Given the description of an element on the screen output the (x, y) to click on. 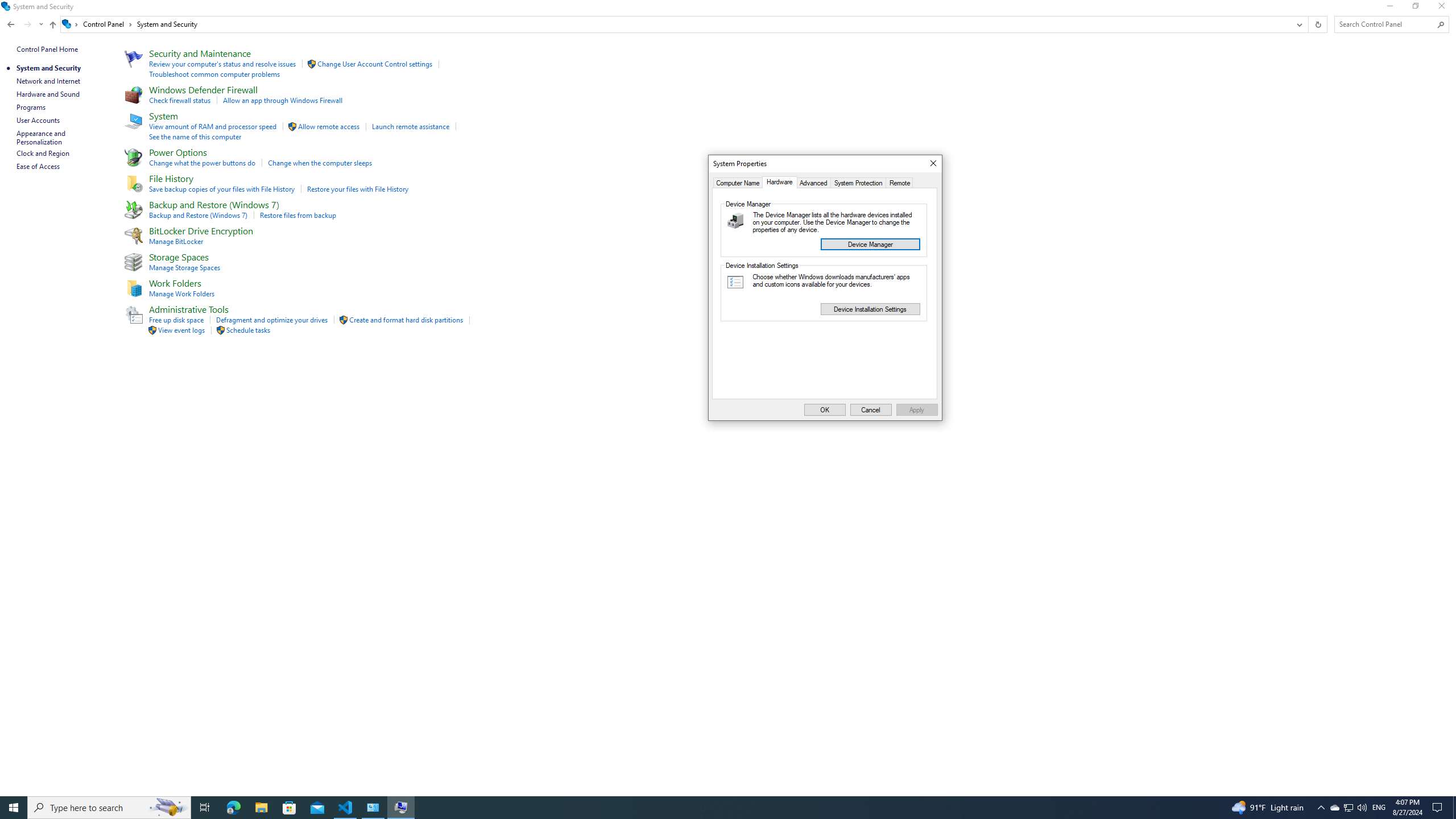
Close (932, 163)
Apply (917, 409)
Hardware (779, 182)
Remote (900, 182)
OK (824, 409)
Advanced (813, 182)
